Given the description of an element on the screen output the (x, y) to click on. 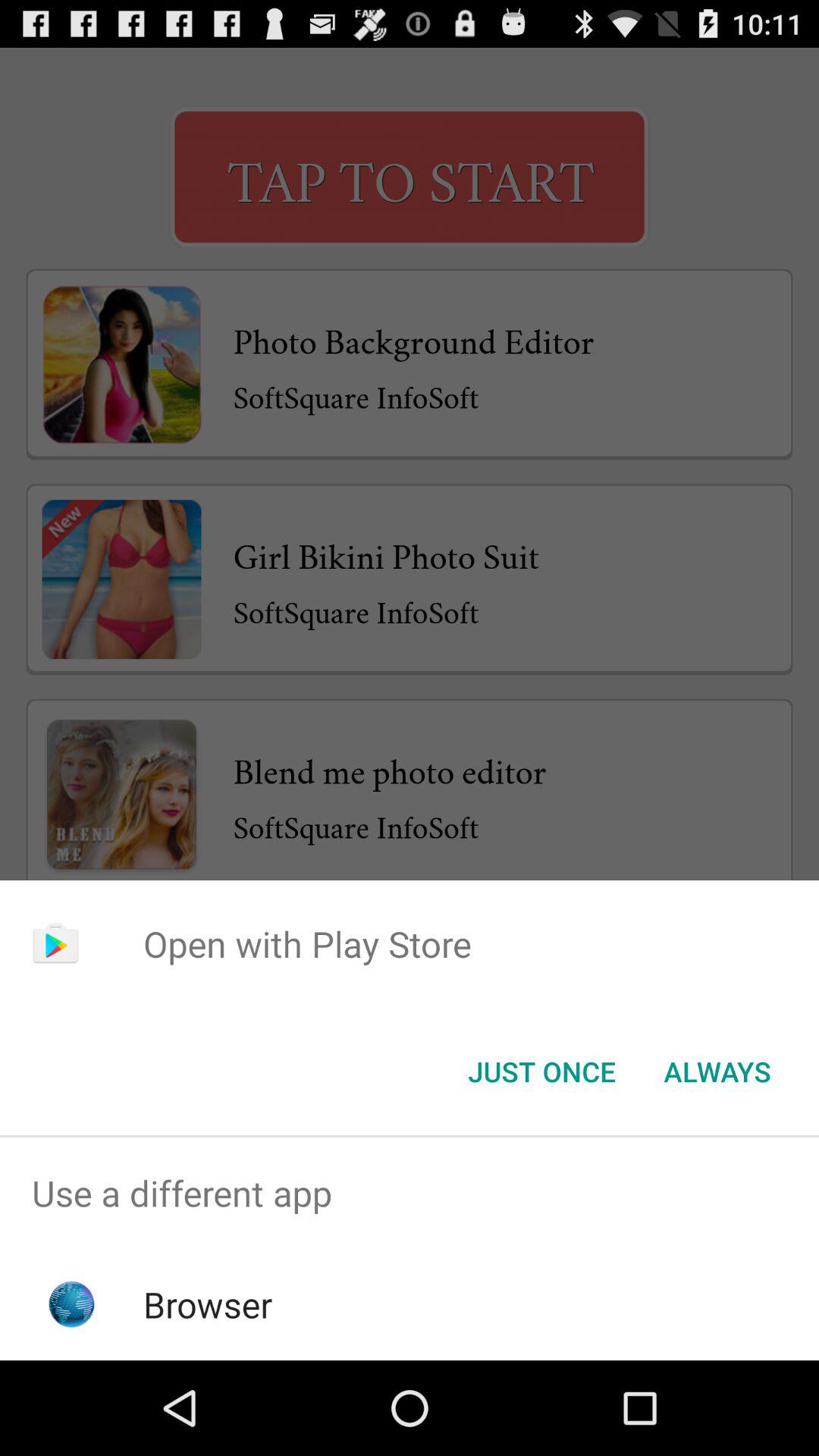
launch the app below use a different app (207, 1304)
